Given the description of an element on the screen output the (x, y) to click on. 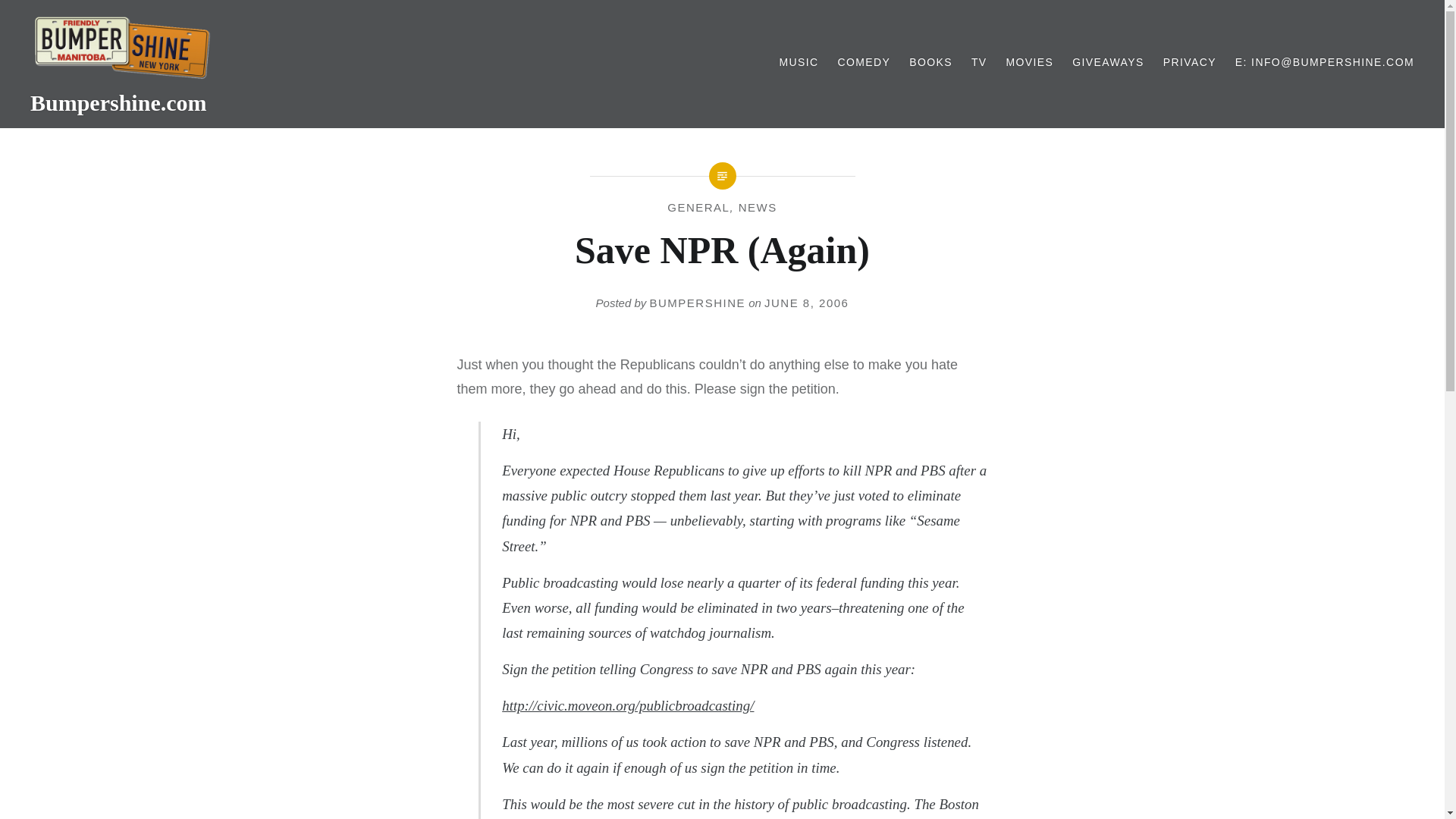
MOVIES (1029, 62)
TV (979, 62)
PRIVACY (1189, 62)
NEWS (757, 206)
Bumpershine.com (118, 102)
BOOKS (930, 62)
COMEDY (863, 62)
MUSIC (798, 62)
GENERAL (697, 206)
Search (190, 19)
JUNE 8, 2006 (806, 302)
BUMPERSHINE (697, 302)
GIVEAWAYS (1107, 62)
